Given the description of an element on the screen output the (x, y) to click on. 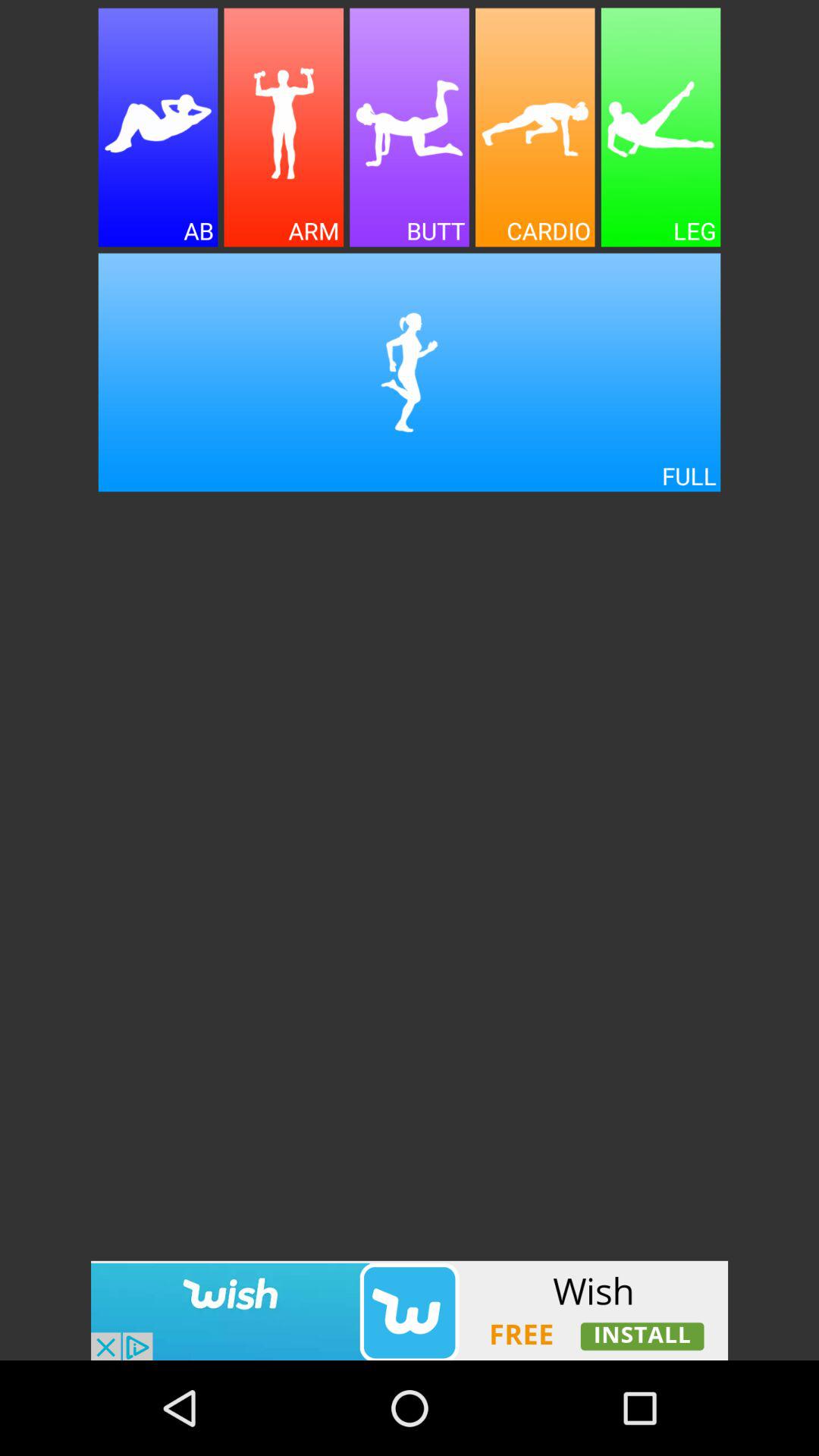
sponsor advertisement for wish (409, 1310)
